Given the description of an element on the screen output the (x, y) to click on. 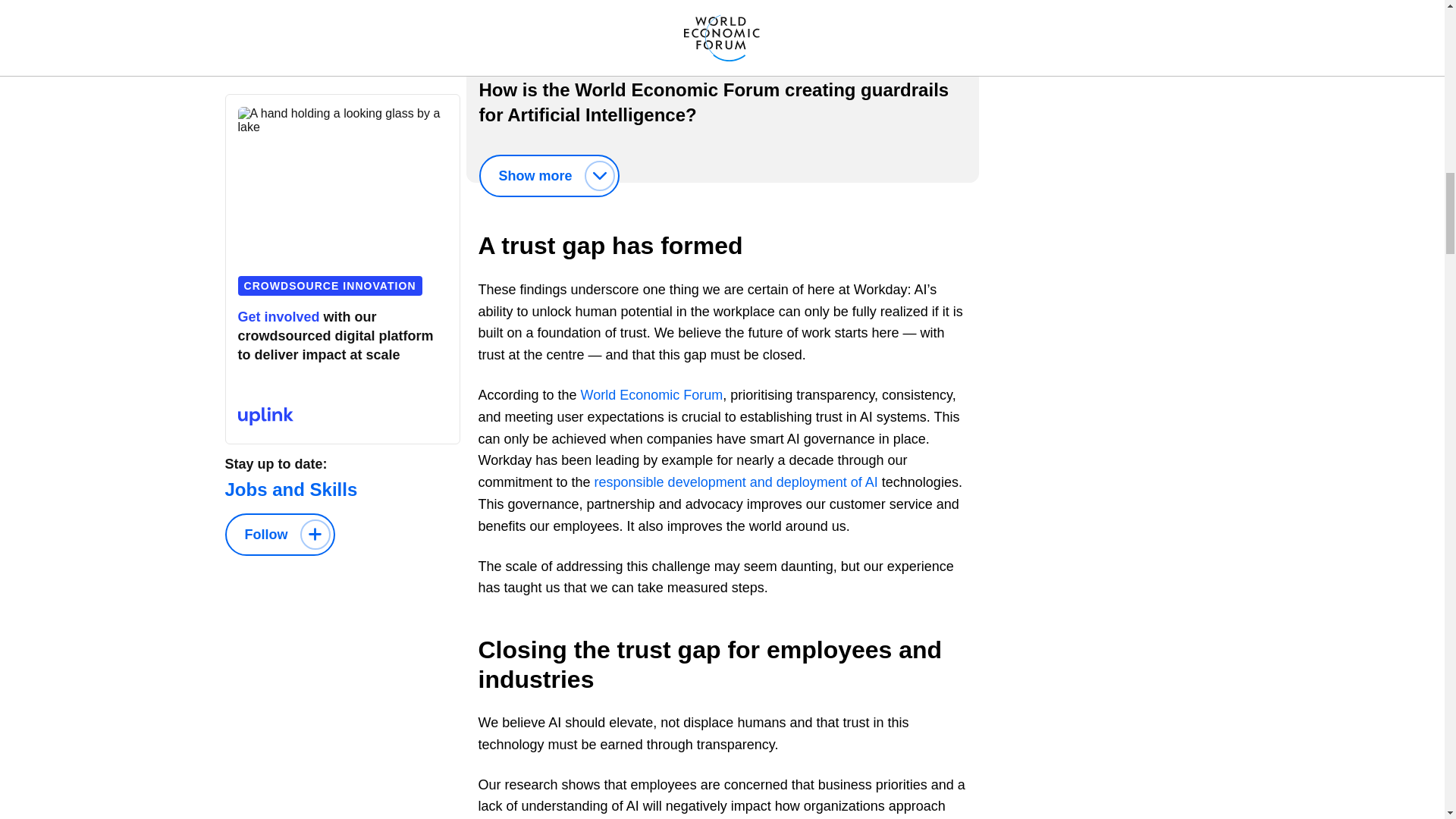
World Economic Forum (651, 394)
Show more (549, 175)
Follow (279, 534)
responsible development and deployment of AI (735, 482)
